Given the description of an element on the screen output the (x, y) to click on. 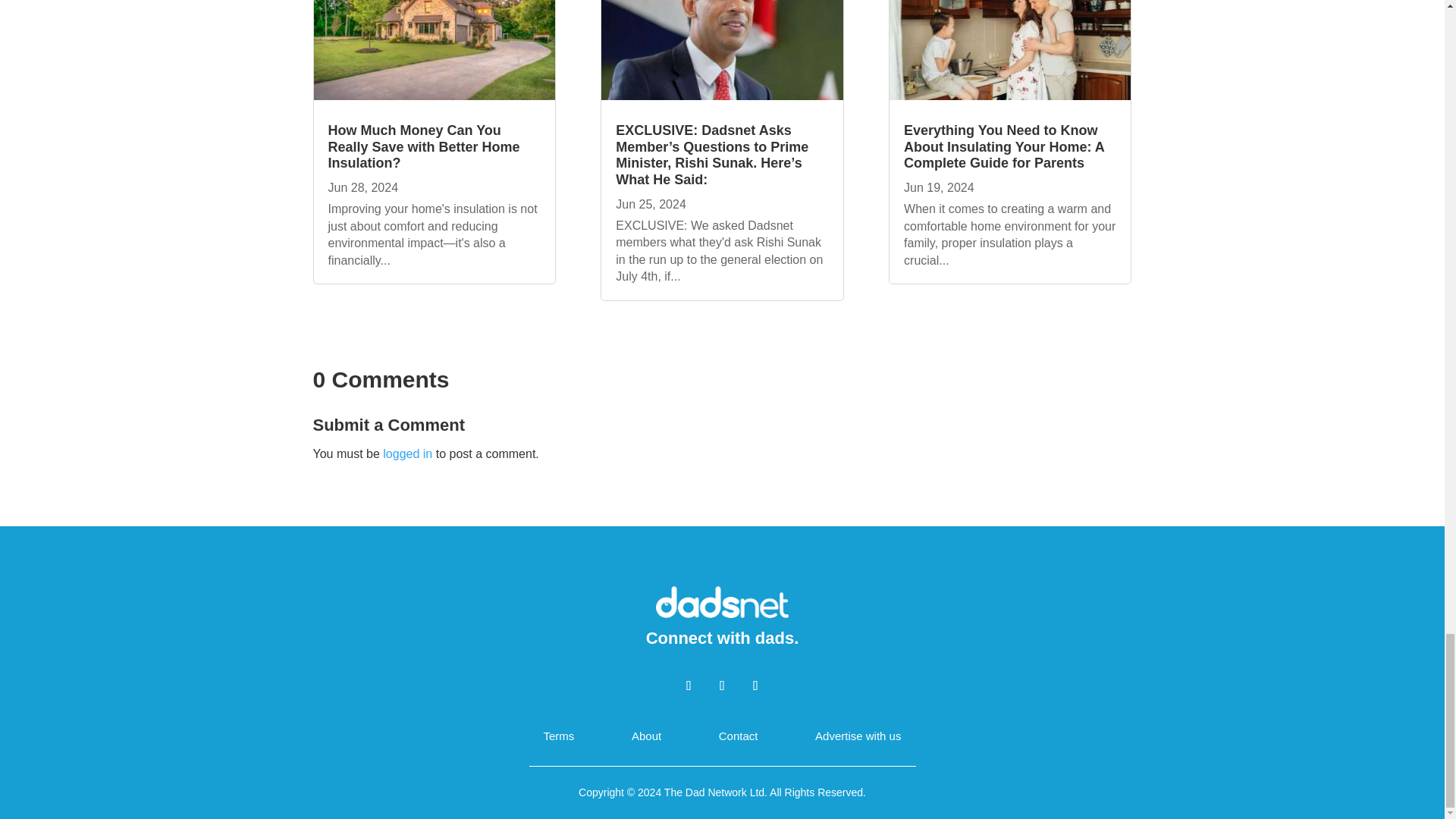
Follow on Instagram (754, 685)
Follow on Facebook (688, 685)
Dadsnet-Logo-White (722, 600)
Follow on X (721, 685)
